Given the description of an element on the screen output the (x, y) to click on. 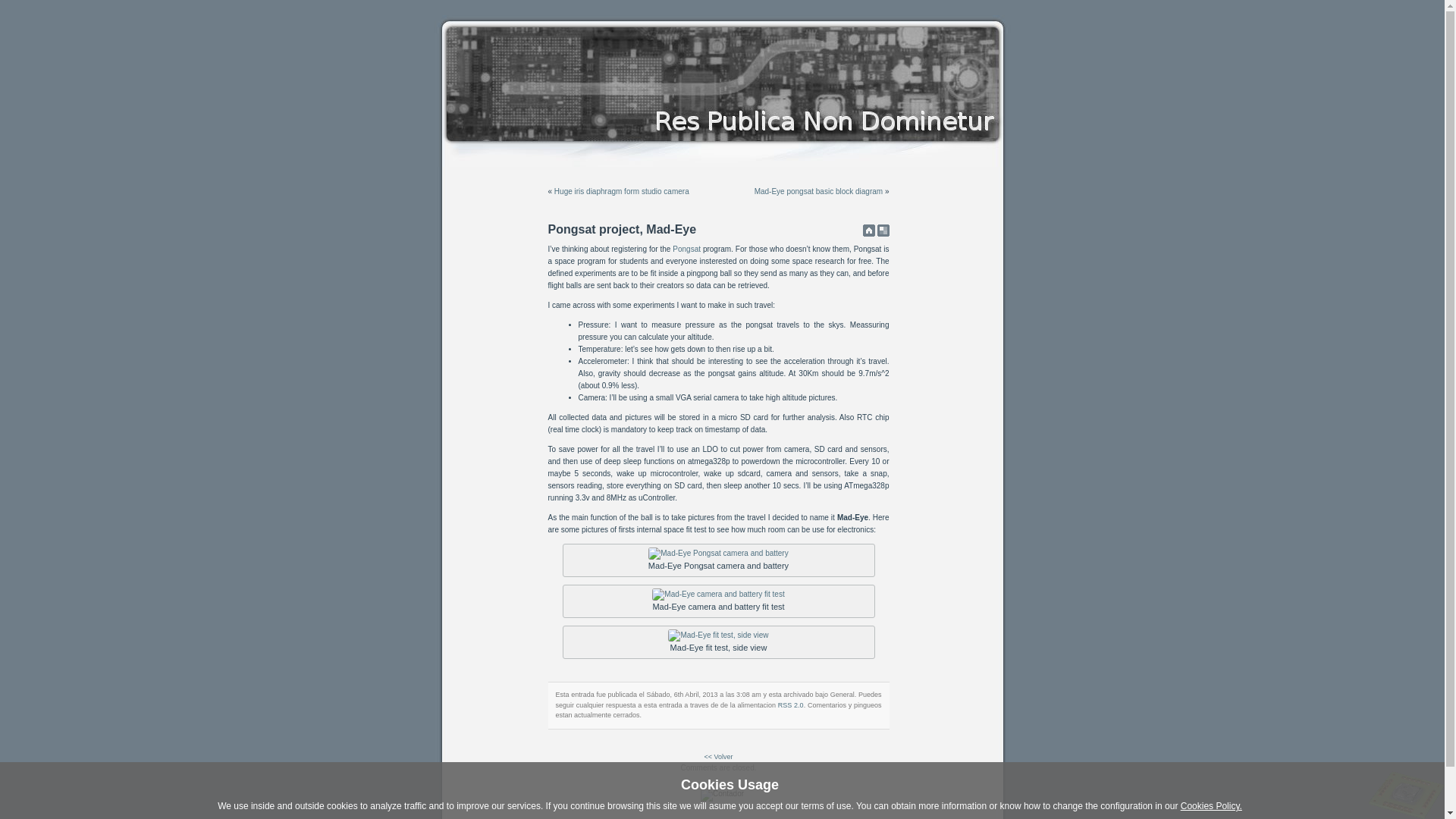
Pongsat Element type: text (686, 248)
Huge iris diaphragm form studio camera Element type: text (621, 191)
Mad-Eye Pongsat camera and battery Element type: hover (717, 553)
<< Volver Element type: text (717, 755)
Mad-Eye pongsat basic block diagram Element type: text (818, 191)
RSS 2.0 Element type: text (790, 704)
Pongsat project, Mad-Eye Element type: text (621, 228)
menealo! Element type: hover (882, 230)
Mad-Eye camera and battery fit test Element type: hover (718, 594)
Cookies Policy. Element type: text (1211, 805)
Mad-Eye fit test, side view Element type: hover (718, 635)
